Given the description of an element on the screen output the (x, y) to click on. 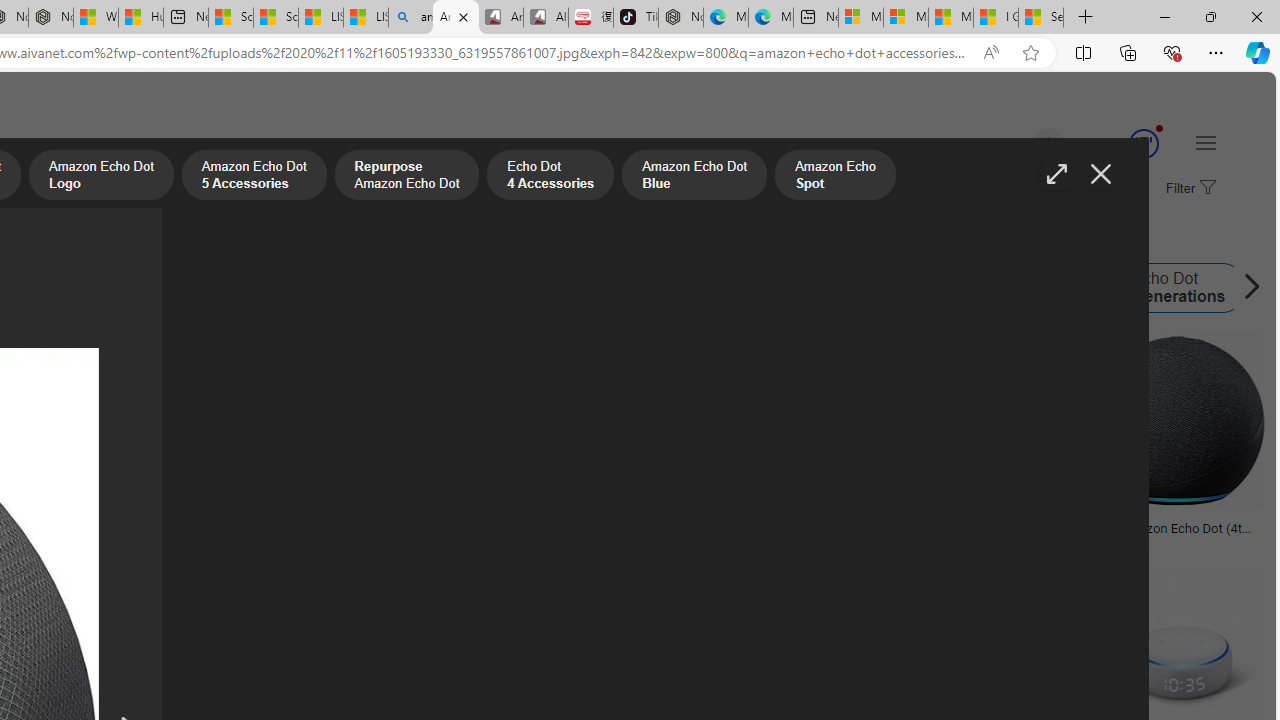
pngkey.com (589, 542)
Image result for Amazon Echo Dot PNG (1175, 421)
croma.com (1128, 541)
Nordace - Best Sellers (680, 17)
Alexa Echo Png Pic Png Arts Images (976, 534)
Echo Dot 4 Accessories (550, 177)
Settings and quick links (1205, 142)
TikTok (635, 17)
Close image (1100, 173)
Amazon Echo Spot (708, 287)
